Given the description of an element on the screen output the (x, y) to click on. 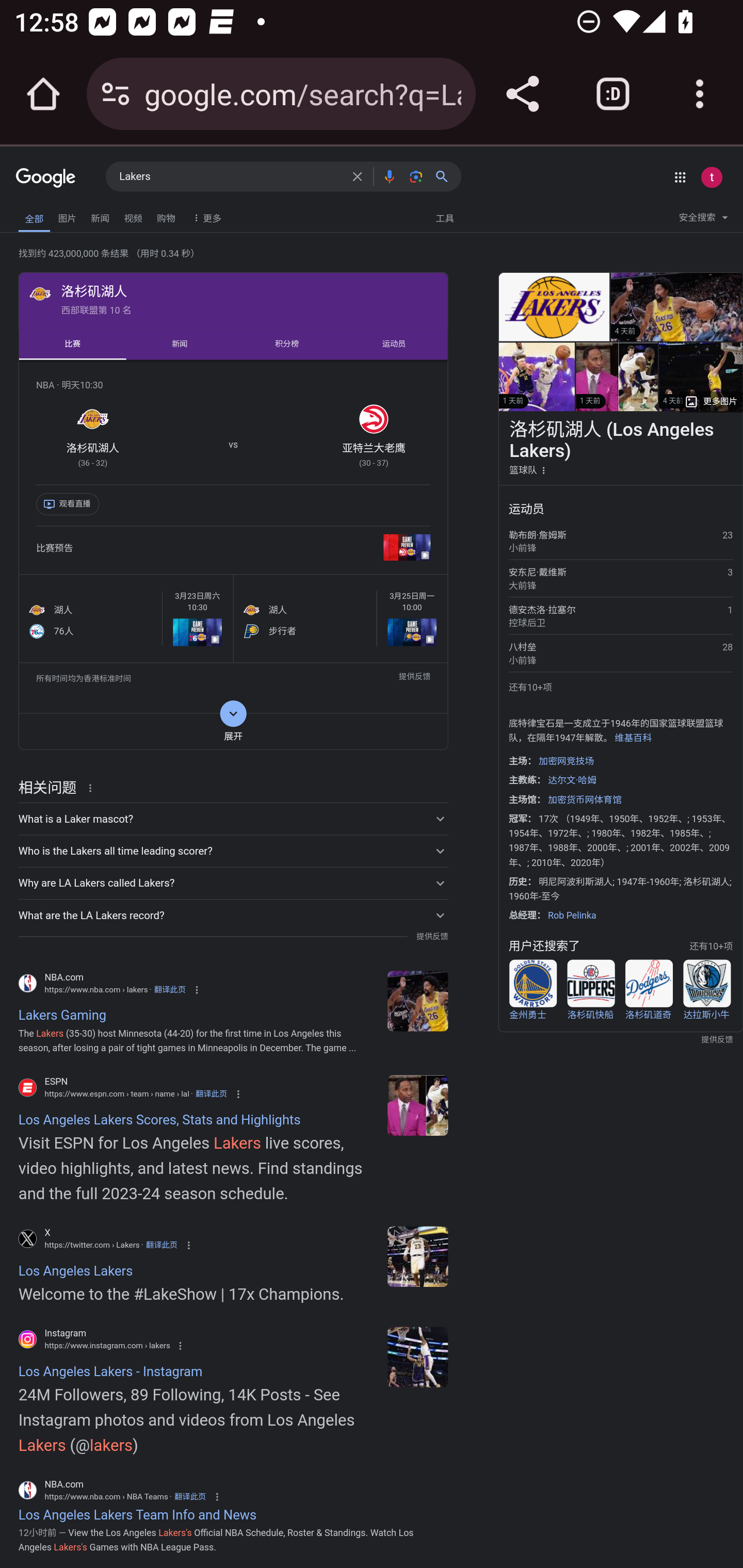
Open the home page (43, 93)
Connection is secure (115, 93)
Share (522, 93)
Switch or close tabs (612, 93)
Customize and control Google Chrome (699, 93)
清除 (357, 176)
按语音搜索 (388, 176)
按图搜索 (415, 176)
搜索 (445, 176)
Google 应用 (679, 176)
Google 账号： test appium (testappium002@gmail.com) (711, 176)
Google (45, 178)
Lakers (229, 177)
无障碍功能反馈 (42, 212)
图片 (67, 216)
新闻 (99, 216)
视频 (133, 216)
购物 (166, 216)
更多 (205, 216)
安全搜索 (703, 219)
工具 (443, 216)
洛杉矶湖人 西部联盟第 10 名 洛杉矶湖人 西部联盟第 10 名 (232, 299)
比赛 (71, 343)
新闻 (179, 343)
积分榜 (286, 343)
运动员 (394, 343)
观看直播 (69, 505)
比赛预告 (232, 549)
提供反馈 (413, 678)
展开 (232, 731)
关于这条结果的详细信息 (93, 786)
What is a Laker mascot? (232, 818)
Who is the Lakers all time leading scorer? (232, 850)
Why are LA Lakers called Lakers? (232, 882)
What are the LA Lakers record? (232, 914)
提供反馈 (432, 936)
lakers (417, 1000)
翻译此页 (169, 989)
los-angeles-lakers (417, 1104)
翻译此页 (210, 1094)
Lakers (417, 1256)
翻译此页 (161, 1244)
lakers (417, 1356)
翻译此页 (189, 1495)
